Given the description of an element on the screen output the (x, y) to click on. 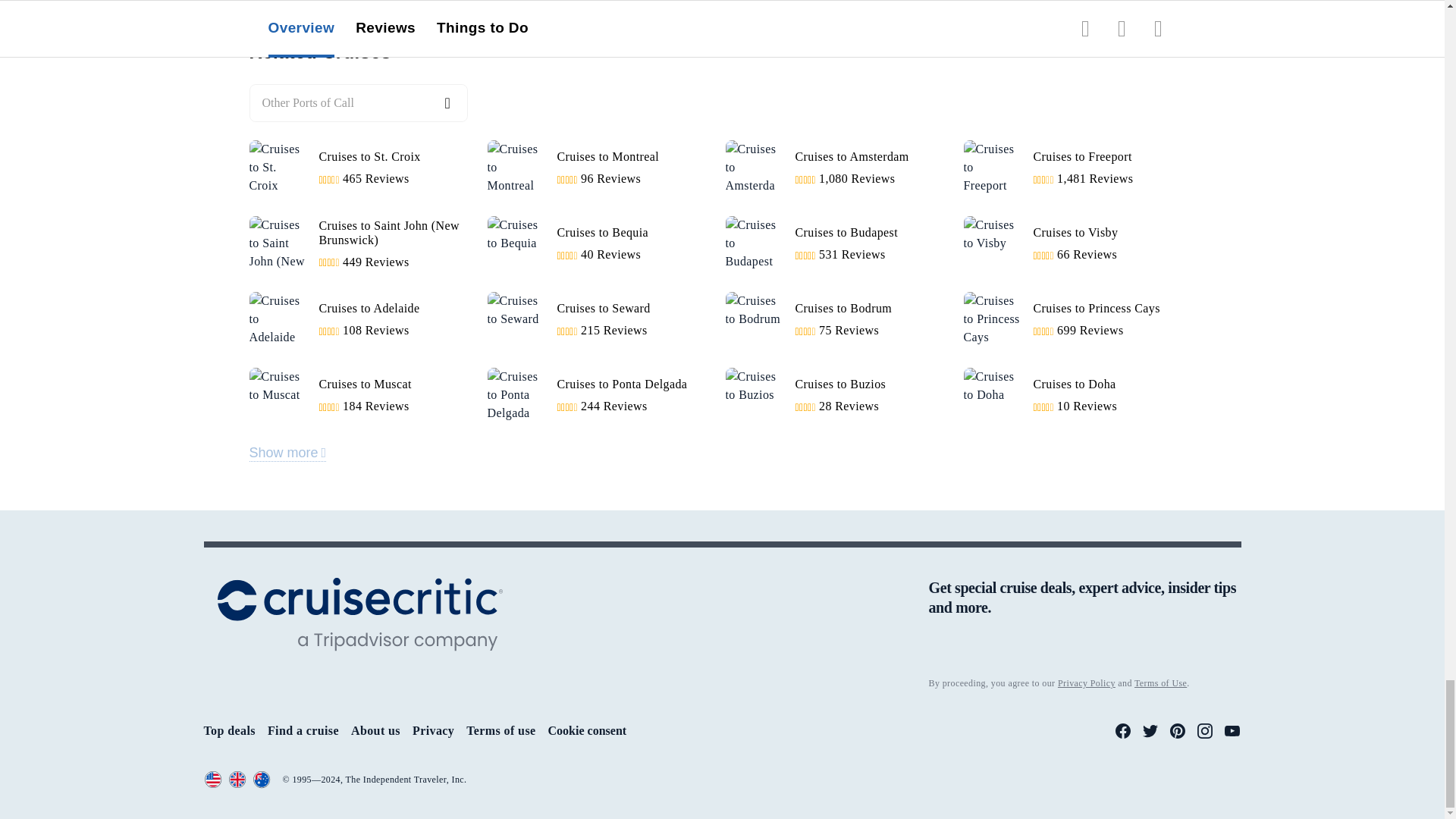
CRM-US-Email-Footer-Nov-2023-264489 (1084, 654)
